Given the description of an element on the screen output the (x, y) to click on. 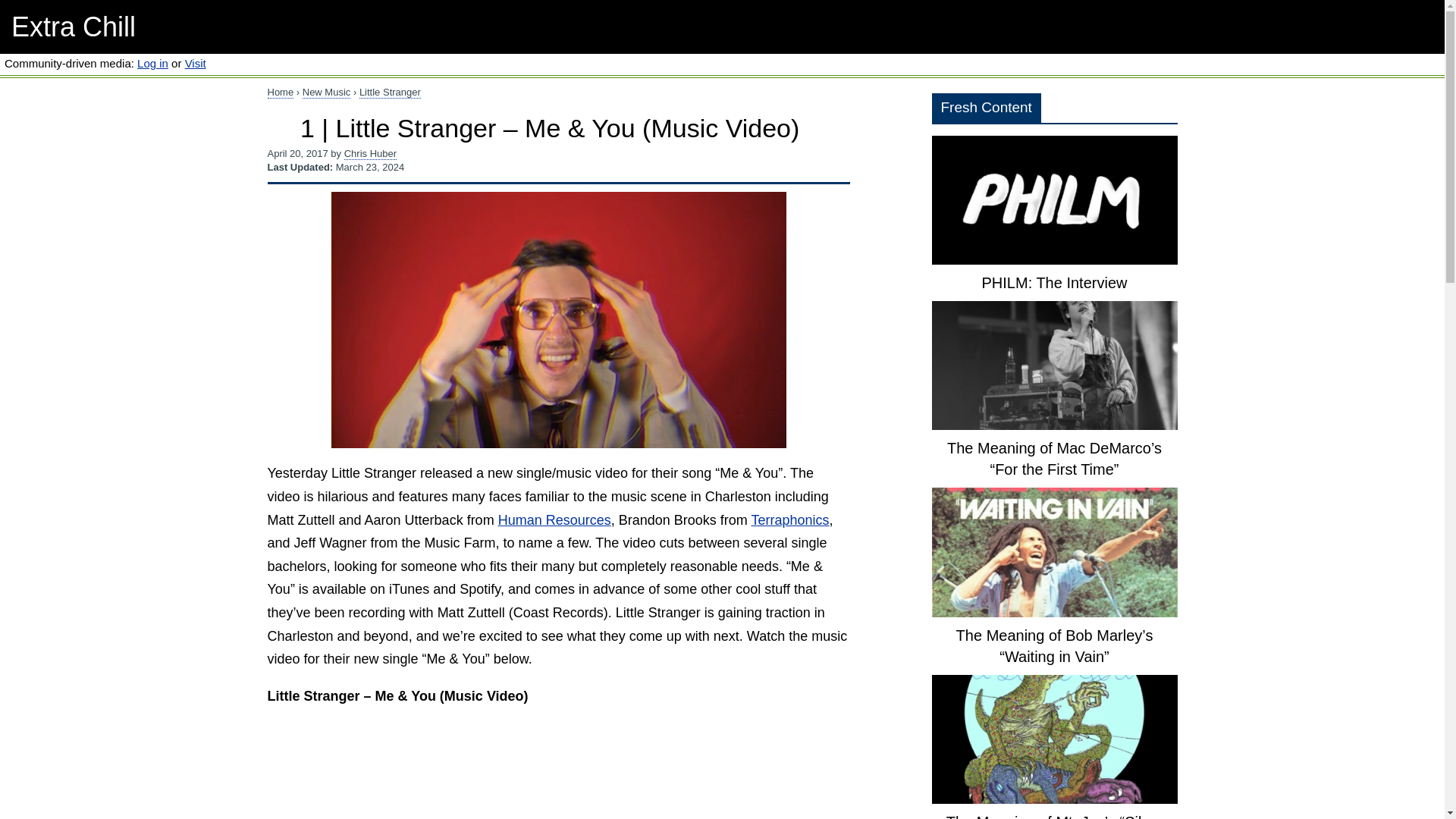
Visit (195, 62)
Log in (152, 62)
Posts by Chris Huber (369, 153)
Little Stranger (389, 92)
Home (280, 92)
Human Resources (554, 519)
Terraphonics (789, 519)
New Music (326, 92)
Extra Chill (73, 27)
Chris Huber (369, 153)
